Given the description of an element on the screen output the (x, y) to click on. 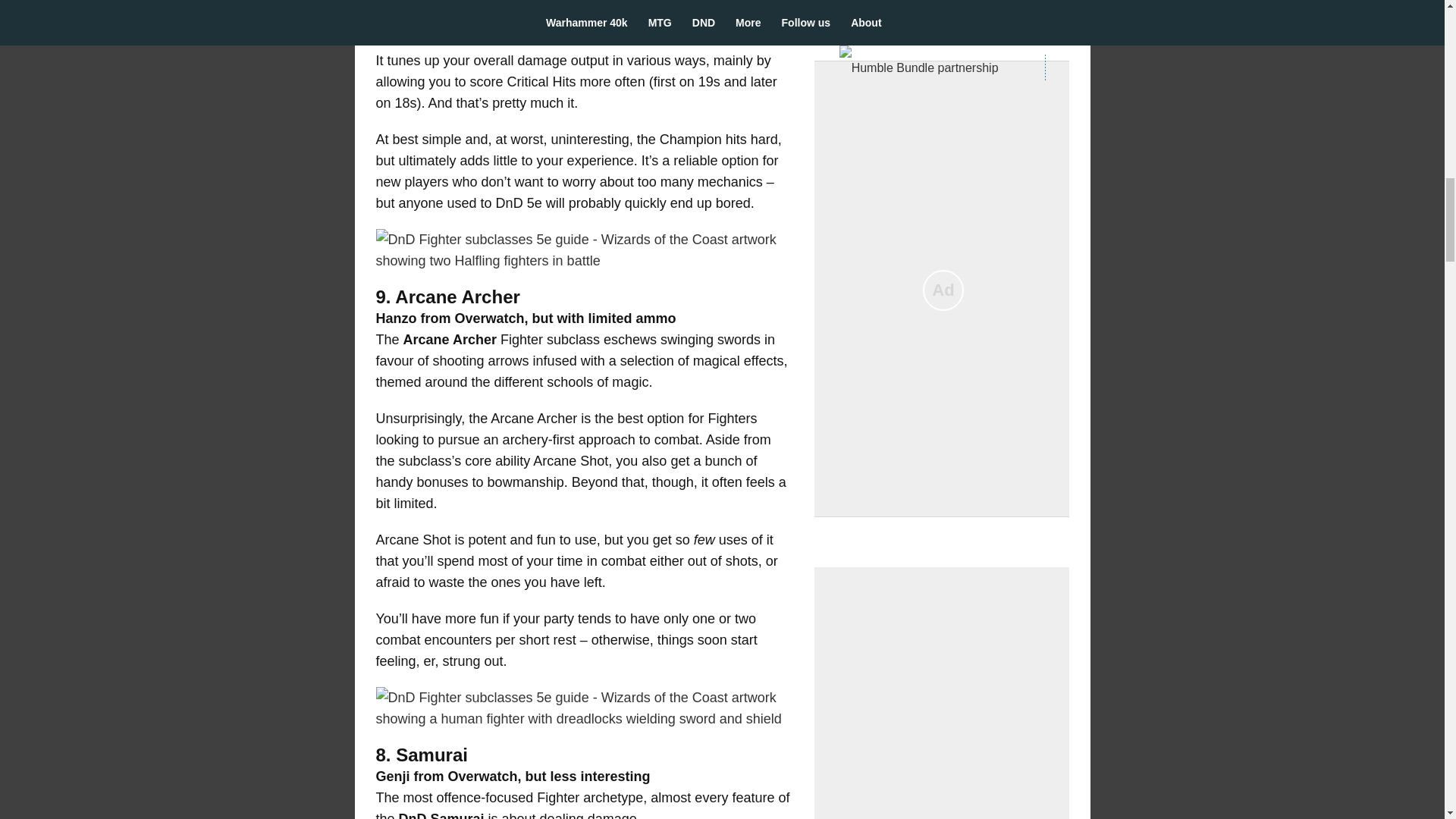
dnd-fighter-subclasses-5e-players-handbook (584, 708)
dnd-fighter-subclasses-5e-party (584, 250)
